Given the description of an element on the screen output the (x, y) to click on. 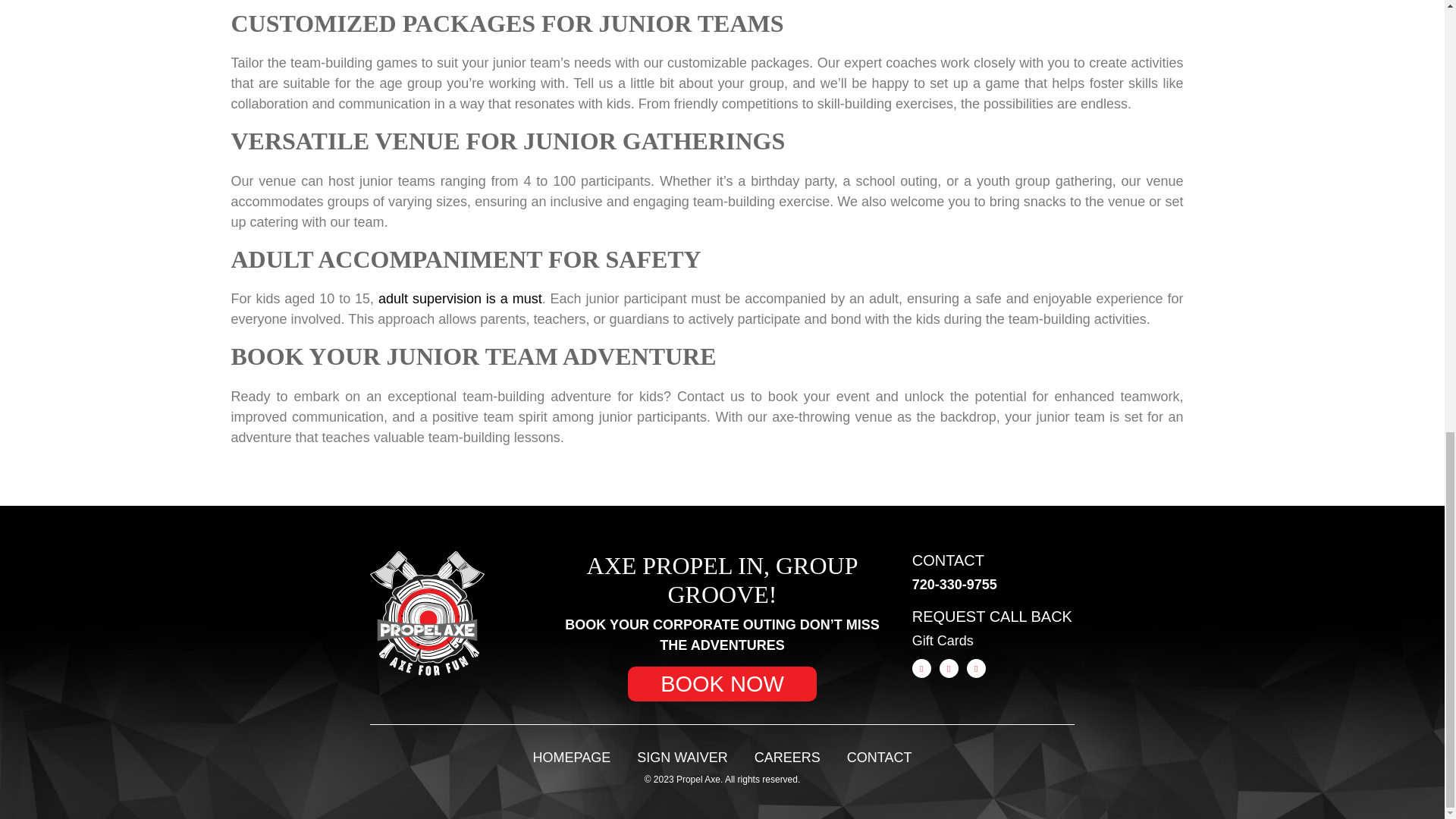
BOOK NOW (721, 683)
CAREERS (786, 757)
adult supervision is a must (459, 298)
720-330-9755 (954, 584)
SIGN WAIVER (682, 757)
Instagram (948, 668)
Youtube (975, 668)
Gift Cards (943, 640)
HOMEPAGE (572, 757)
CONTACT (879, 757)
